Given the description of an element on the screen output the (x, y) to click on. 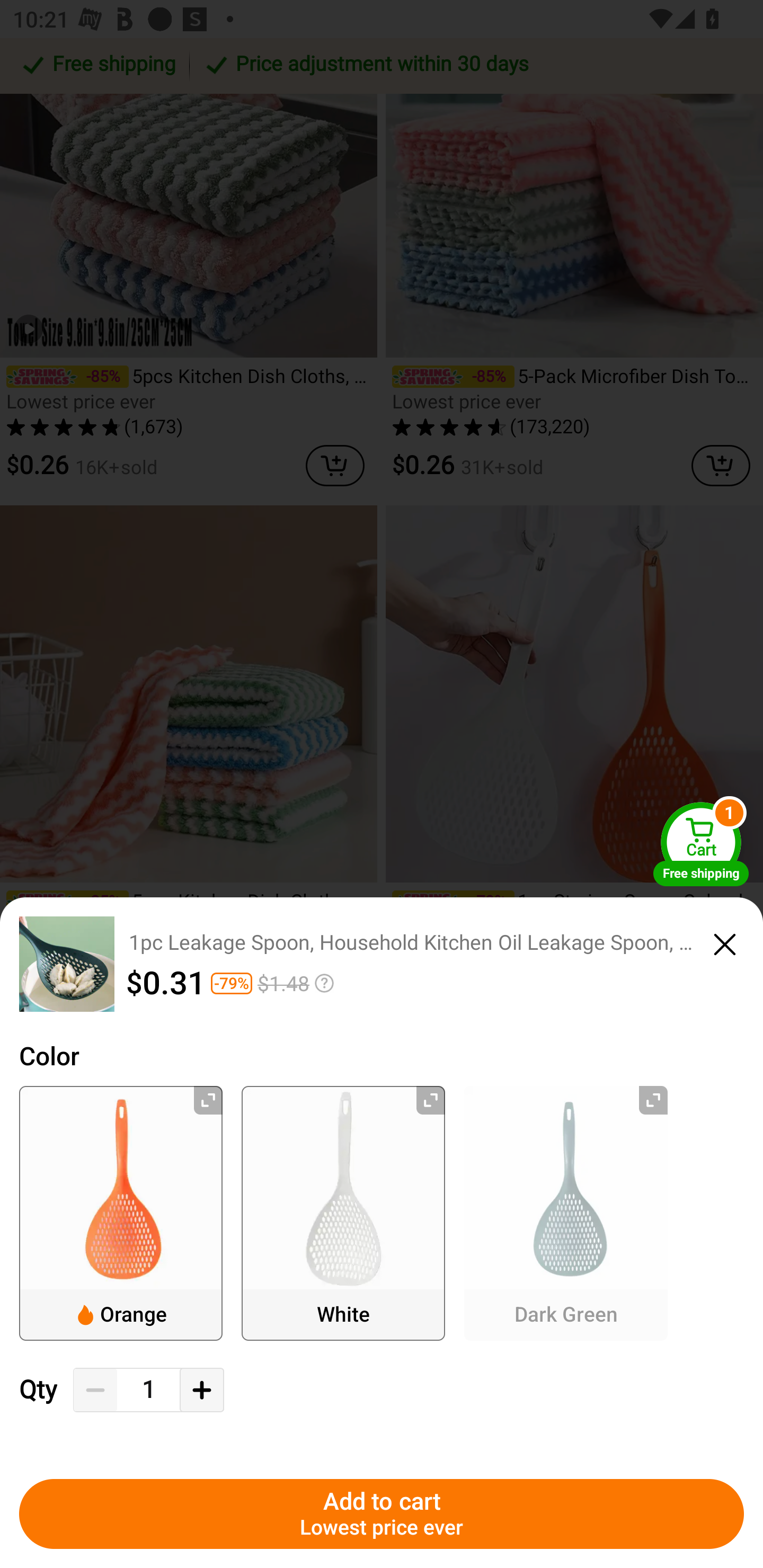
Cart Free shipping Cart (701, 844)
close (724, 941)
Orange ￼Orange (120, 1213)
White (342, 1213)
Dark Green (565, 1213)
Decrease Quantity Button (95, 1389)
Add Quantity Button (201, 1389)
1 (148, 1389)
Add to cart Lowest price ever (381, 1513)
